Given the description of an element on the screen output the (x, y) to click on. 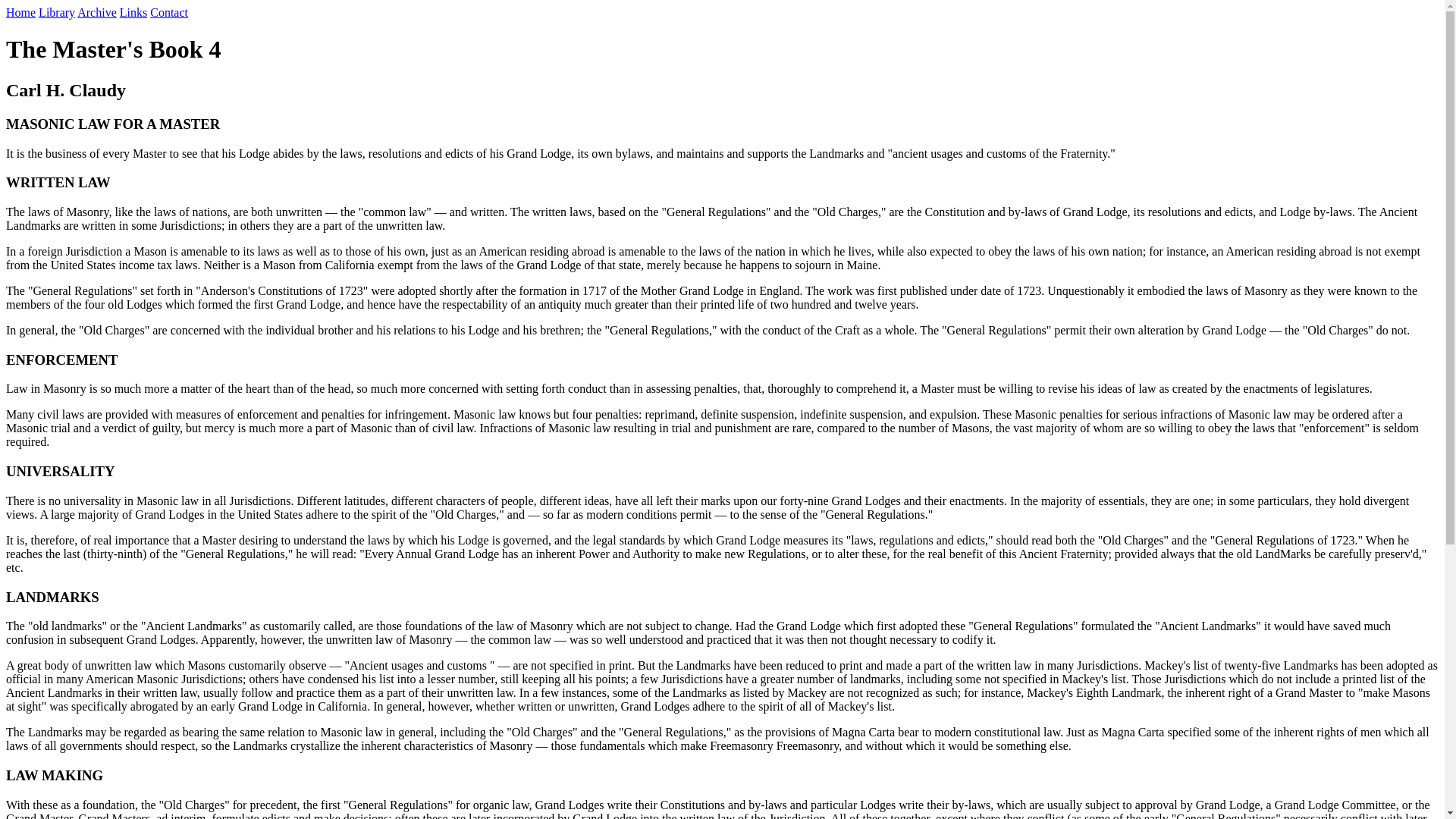
Home (19, 11)
Archive (96, 11)
Contact (168, 11)
Links (133, 11)
Library (57, 11)
